Given the description of an element on the screen output the (x, y) to click on. 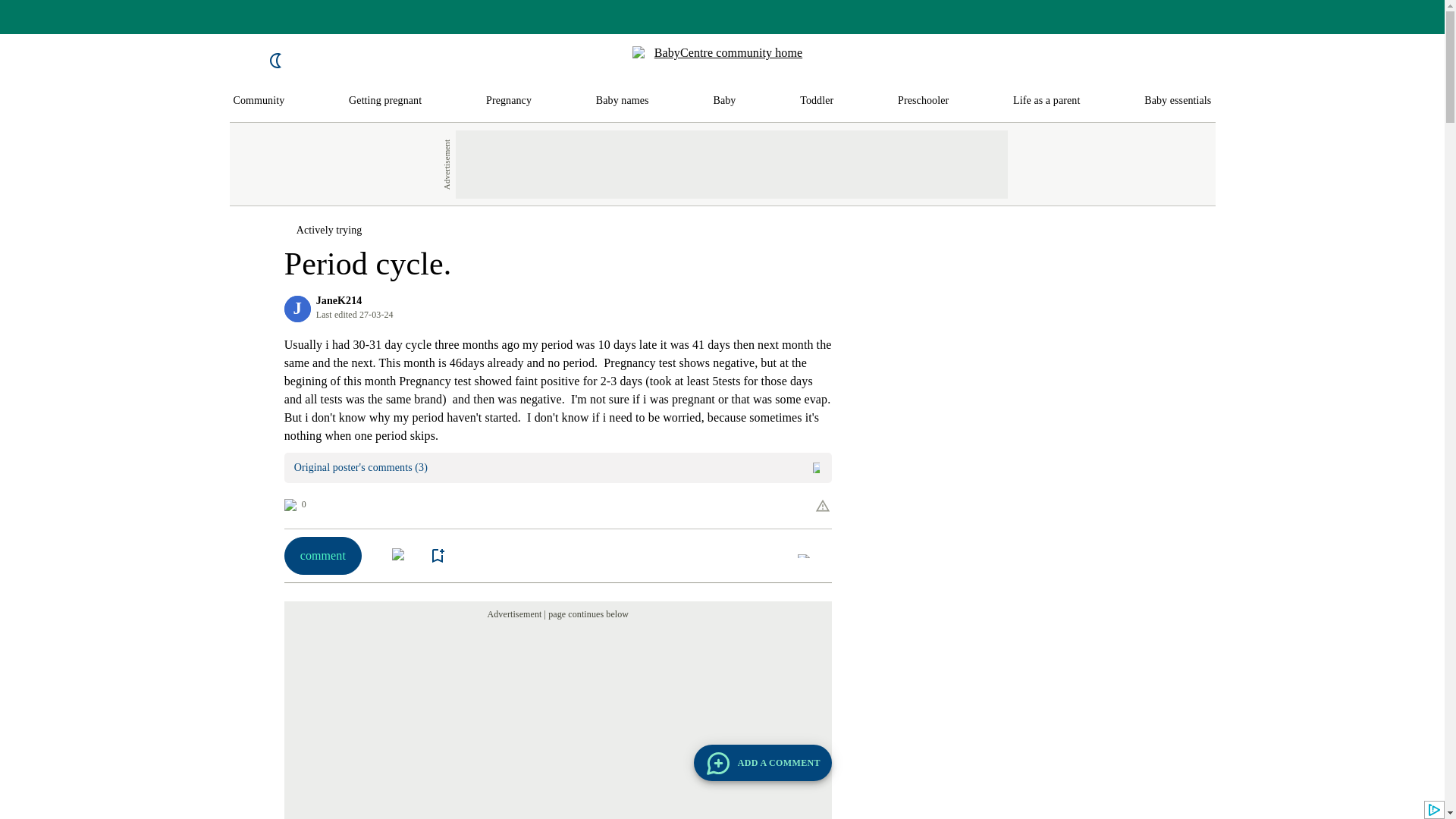
Baby essentials (1177, 101)
Pregnancy (508, 101)
Baby names (622, 101)
Life as a parent (1046, 101)
Getting pregnant (385, 101)
Toddler (815, 101)
Baby (724, 101)
Community (258, 101)
Preschooler (923, 101)
